Given the description of an element on the screen output the (x, y) to click on. 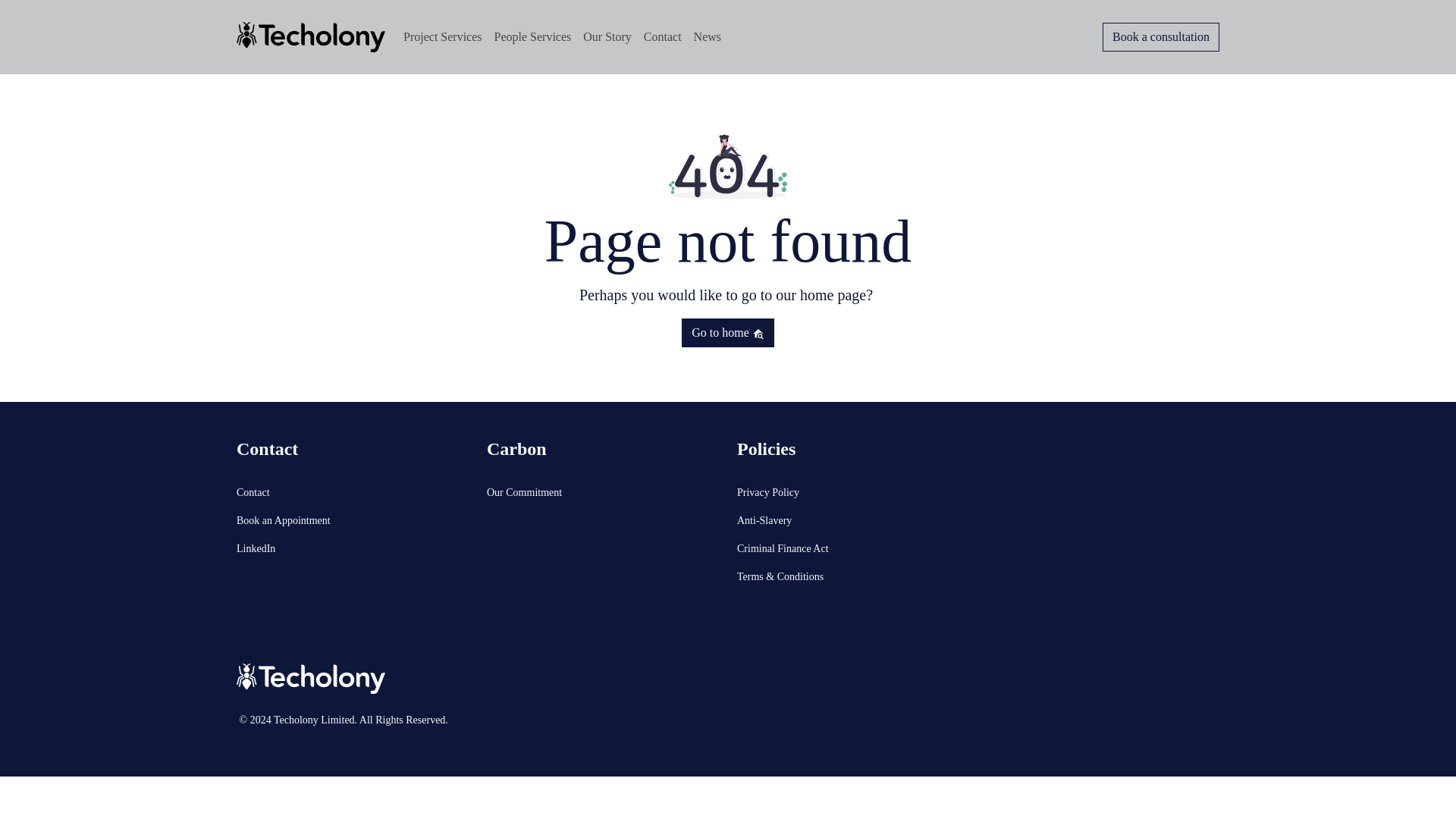
Privacy Policy (852, 492)
Contact (351, 492)
Our Commitment (602, 492)
Go to home (727, 332)
News (706, 37)
Contact (662, 37)
Our Story (606, 37)
People Services (532, 37)
LinkedIn (351, 548)
Book an Appointment (351, 520)
